Given the description of an element on the screen output the (x, y) to click on. 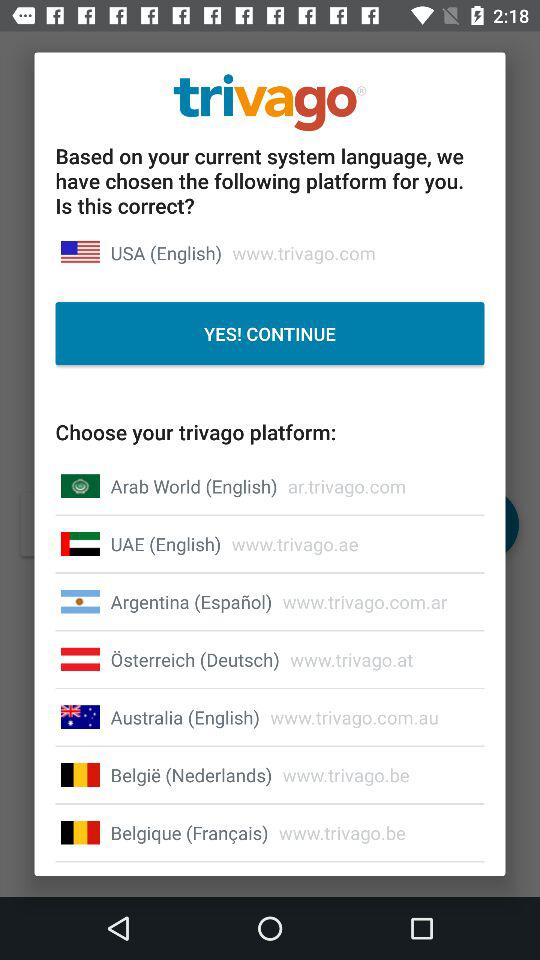
tap the icon next to www.trivago.com item (166, 252)
